Given the description of an element on the screen output the (x, y) to click on. 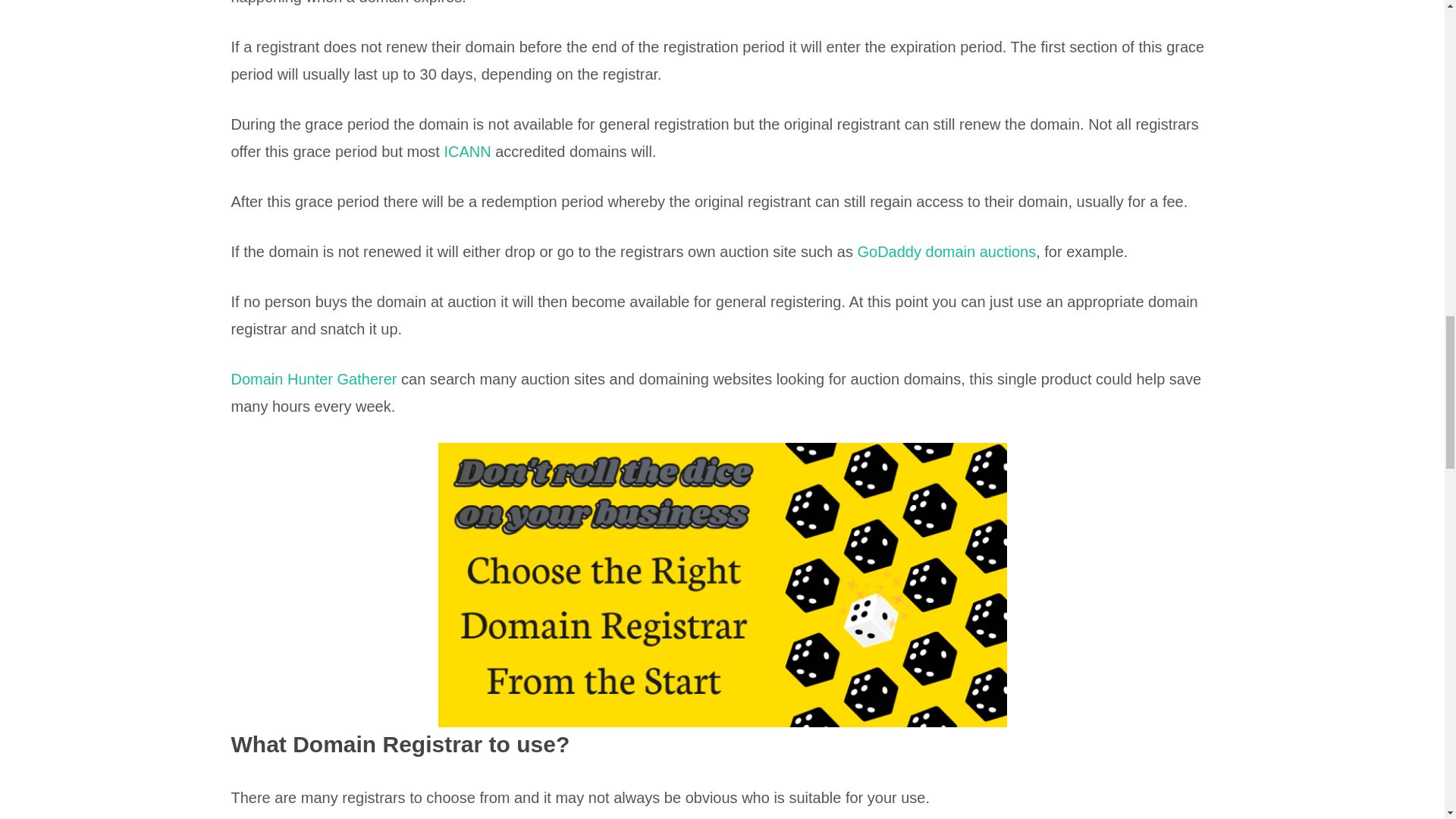
GoDaddy domain auctions (946, 251)
ICANN (469, 151)
Domain Hunter Gatherer (313, 379)
